Given the description of an element on the screen output the (x, y) to click on. 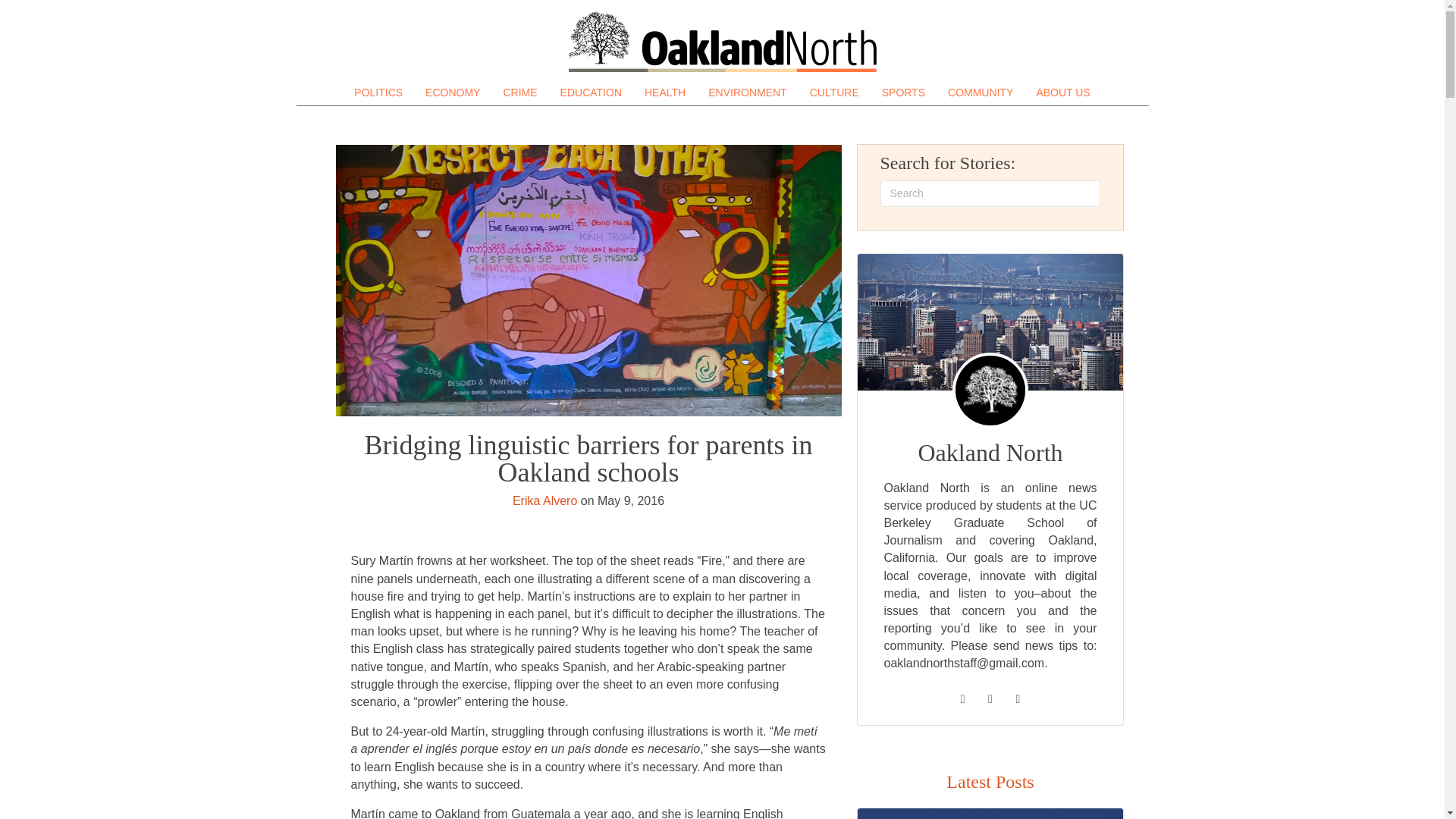
EDUCATION (590, 92)
CULTURE (834, 92)
COMMUNITY (980, 92)
ABOUT US (1062, 92)
Type and press Enter to search. (990, 193)
SPORTS (904, 92)
Oakland North (722, 41)
Erika Alvero (544, 500)
ENVIRONMENT (746, 92)
Posts by Erika Alvero (544, 500)
POLITICS (378, 92)
CRIME (519, 92)
HEALTH (665, 92)
ECONOMY (452, 92)
